Given the description of an element on the screen output the (x, y) to click on. 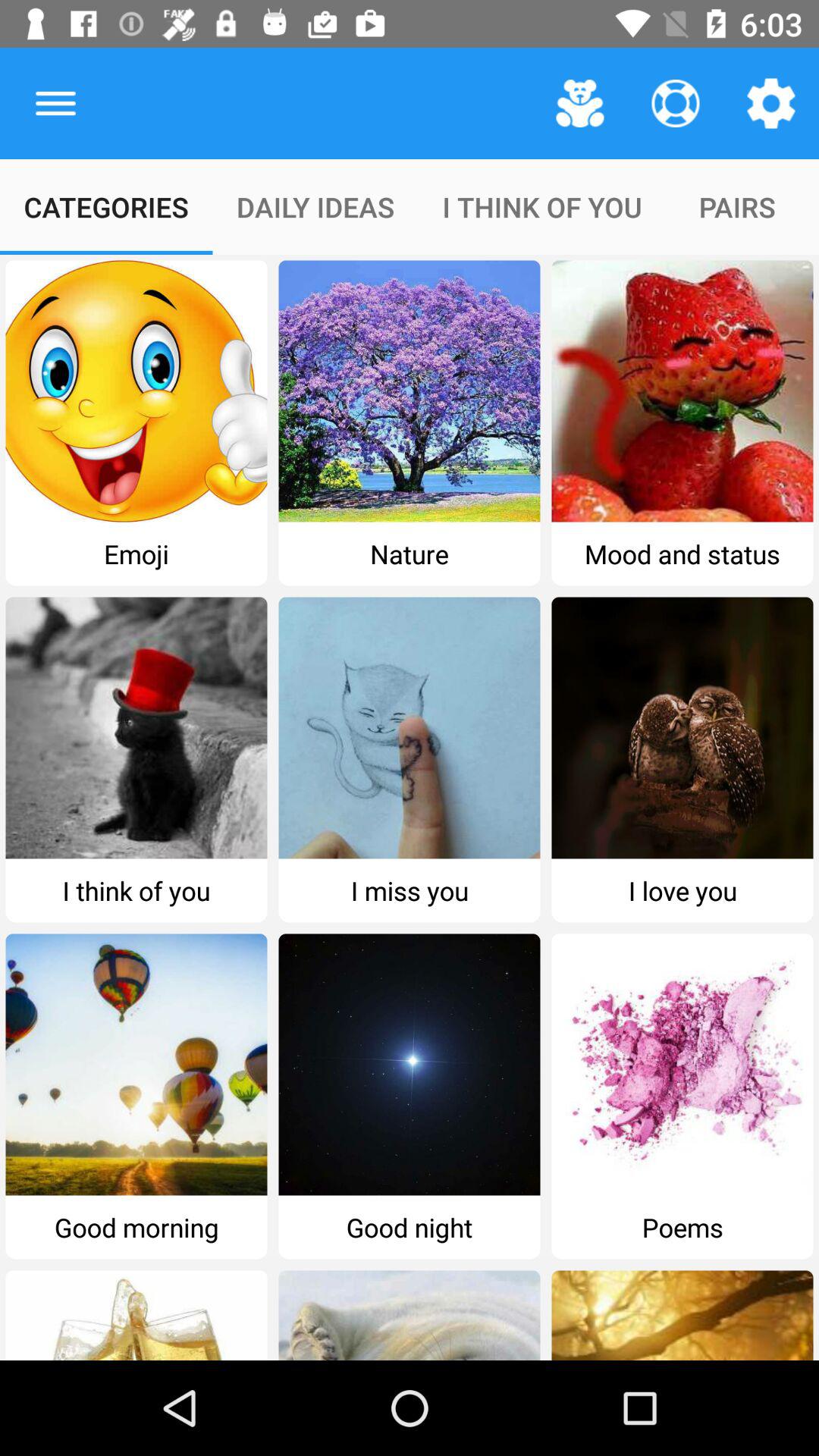
select item above the i think of icon (579, 103)
